Given the description of an element on the screen output the (x, y) to click on. 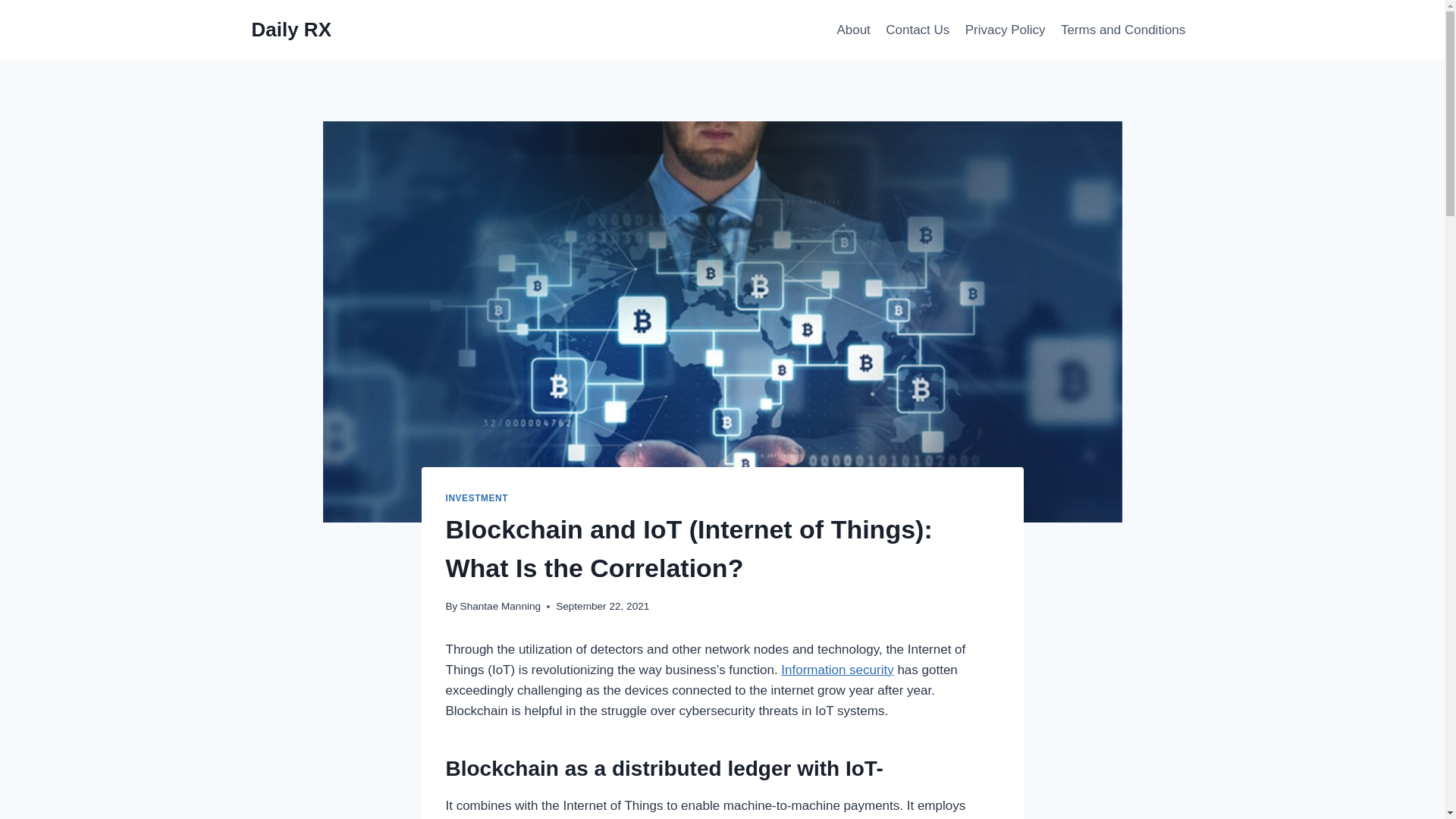
Contact Us (916, 30)
Information security (836, 669)
Investment (476, 498)
Contact Us (916, 30)
INVESTMENT (476, 498)
Privacy Policy (1005, 30)
About (852, 30)
Terms and Conditions (1122, 30)
Shantae Manning (500, 605)
Daily RX (291, 29)
Daily RX (291, 29)
About (852, 30)
Shantae Manning (500, 605)
Information security (836, 669)
Privacy Policy (1005, 30)
